Given the description of an element on the screen output the (x, y) to click on. 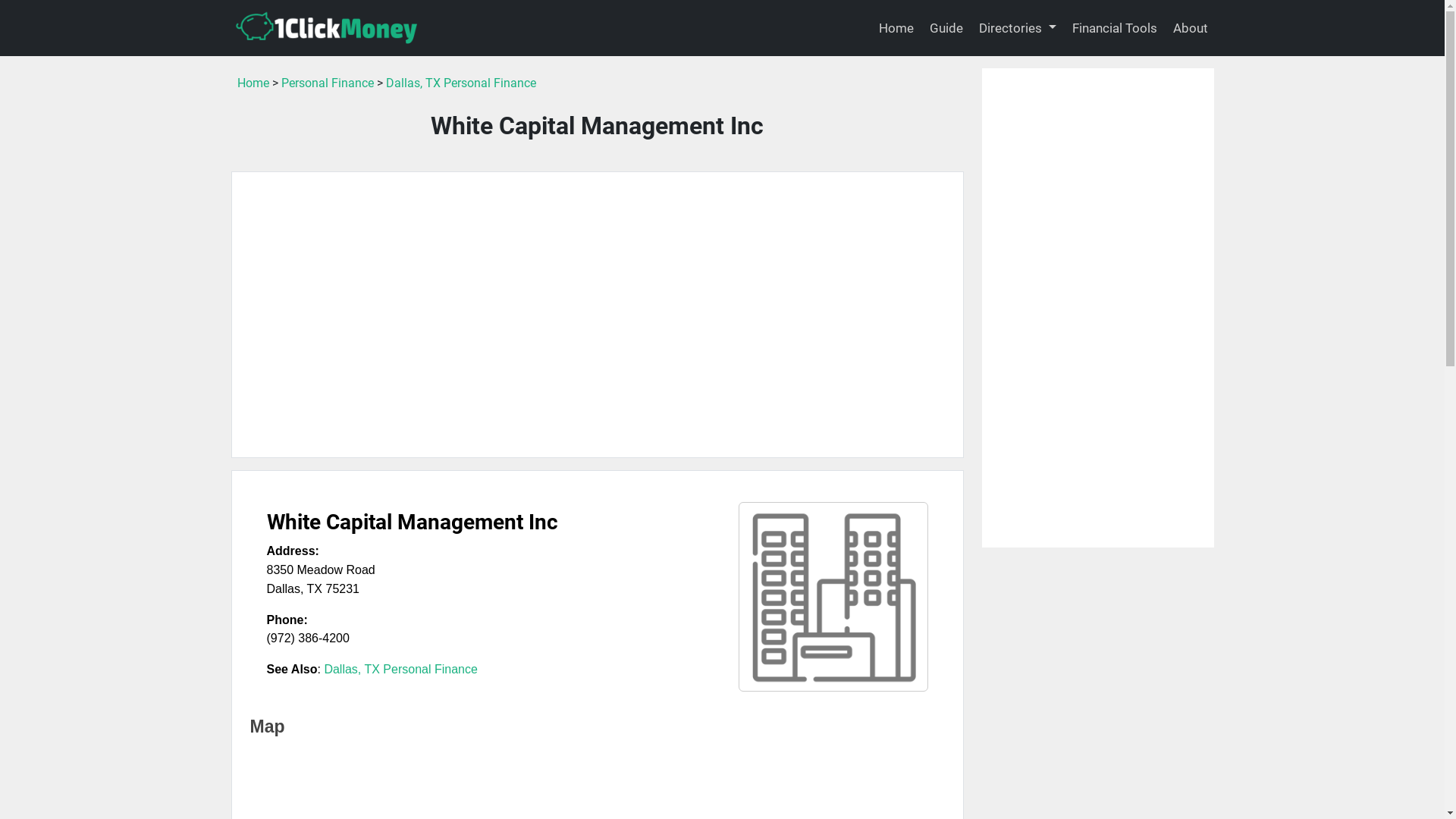
Home Element type: text (895, 27)
Dallas, TX Personal Finance Element type: text (399, 668)
Directories Element type: text (1016, 27)
Advertisement Element type: hover (1097, 307)
Financial Tools Element type: text (1114, 27)
About Element type: text (1189, 27)
Advertisement Element type: hover (597, 314)
Dallas, TX Personal Finance Element type: text (460, 82)
Guide Element type: text (946, 27)
Personal Finance Element type: text (326, 82)
Home Element type: text (252, 82)
